Given the description of an element on the screen output the (x, y) to click on. 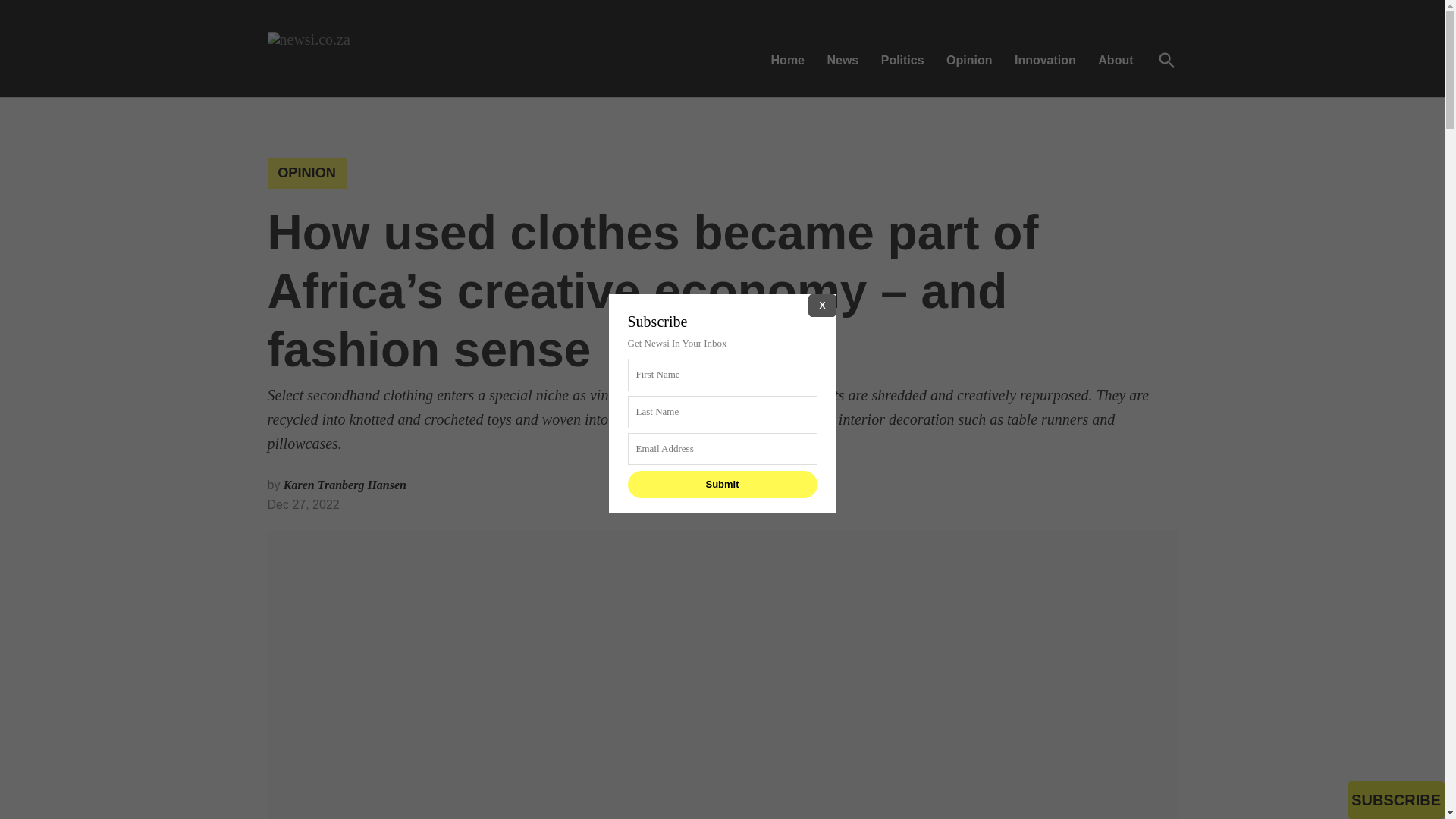
OPINION (306, 173)
About (1115, 59)
Opinion (968, 59)
News (842, 59)
Politics (902, 59)
Submit (721, 483)
Innovation (1045, 59)
Karen Tranberg Hansen (344, 484)
Home (791, 59)
newsi.co.za (532, 70)
